Given the description of an element on the screen output the (x, y) to click on. 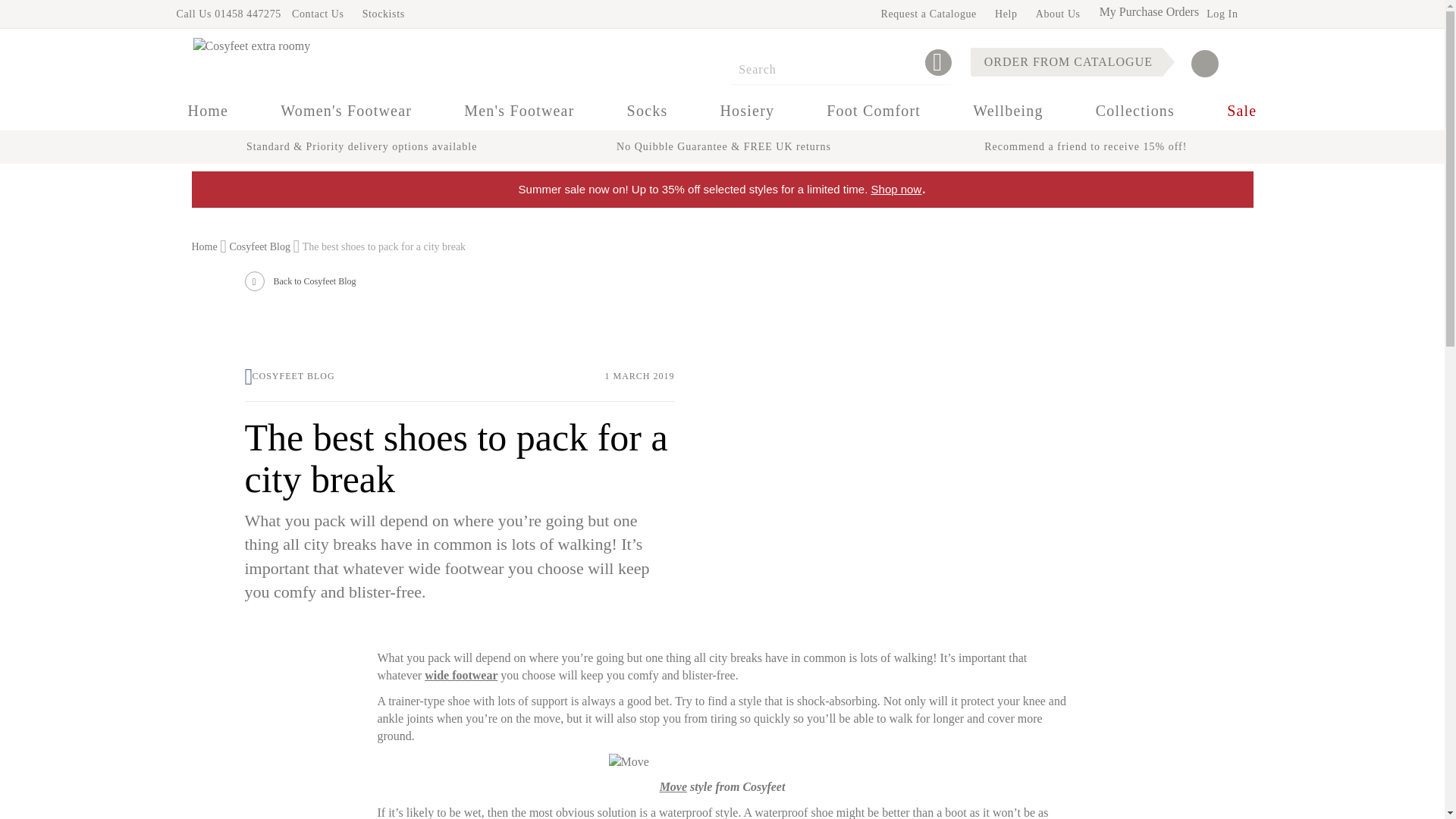
Basket (1220, 63)
Stockists (383, 13)
My Purchase Orders (1149, 11)
Log In (1222, 13)
ORDER FROM CATALOGUE (1066, 61)
Contact Us (317, 13)
Request a Catalogue (927, 13)
Stockists (383, 13)
Contact Us (317, 13)
